Given the description of an element on the screen output the (x, y) to click on. 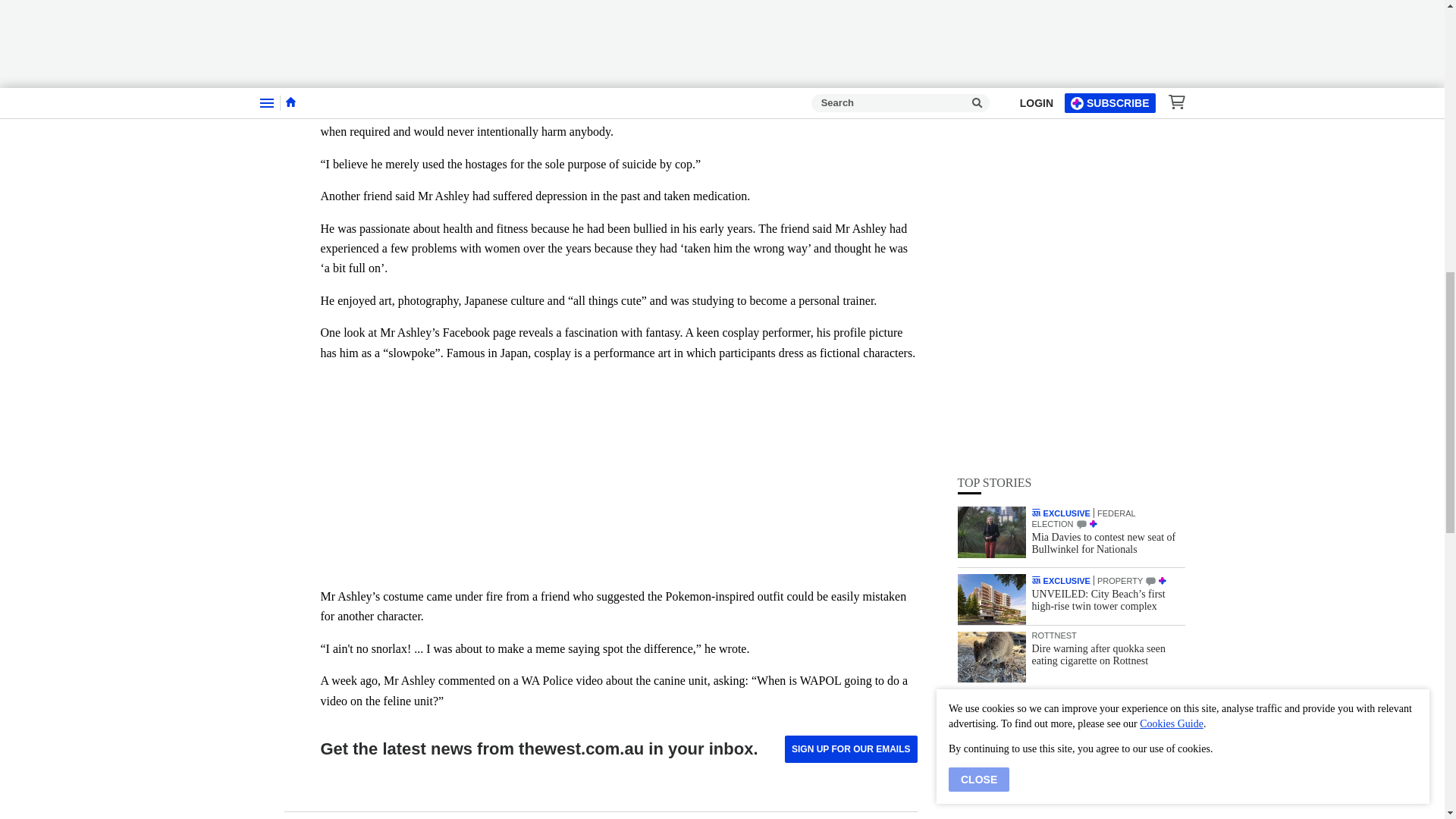
THE WEST AUSTRALIAN (1035, 178)
THE WEST AUSTRALIAN (1035, 111)
PREMIUM (1093, 122)
COMMENTS (1081, 122)
